Given the description of an element on the screen output the (x, y) to click on. 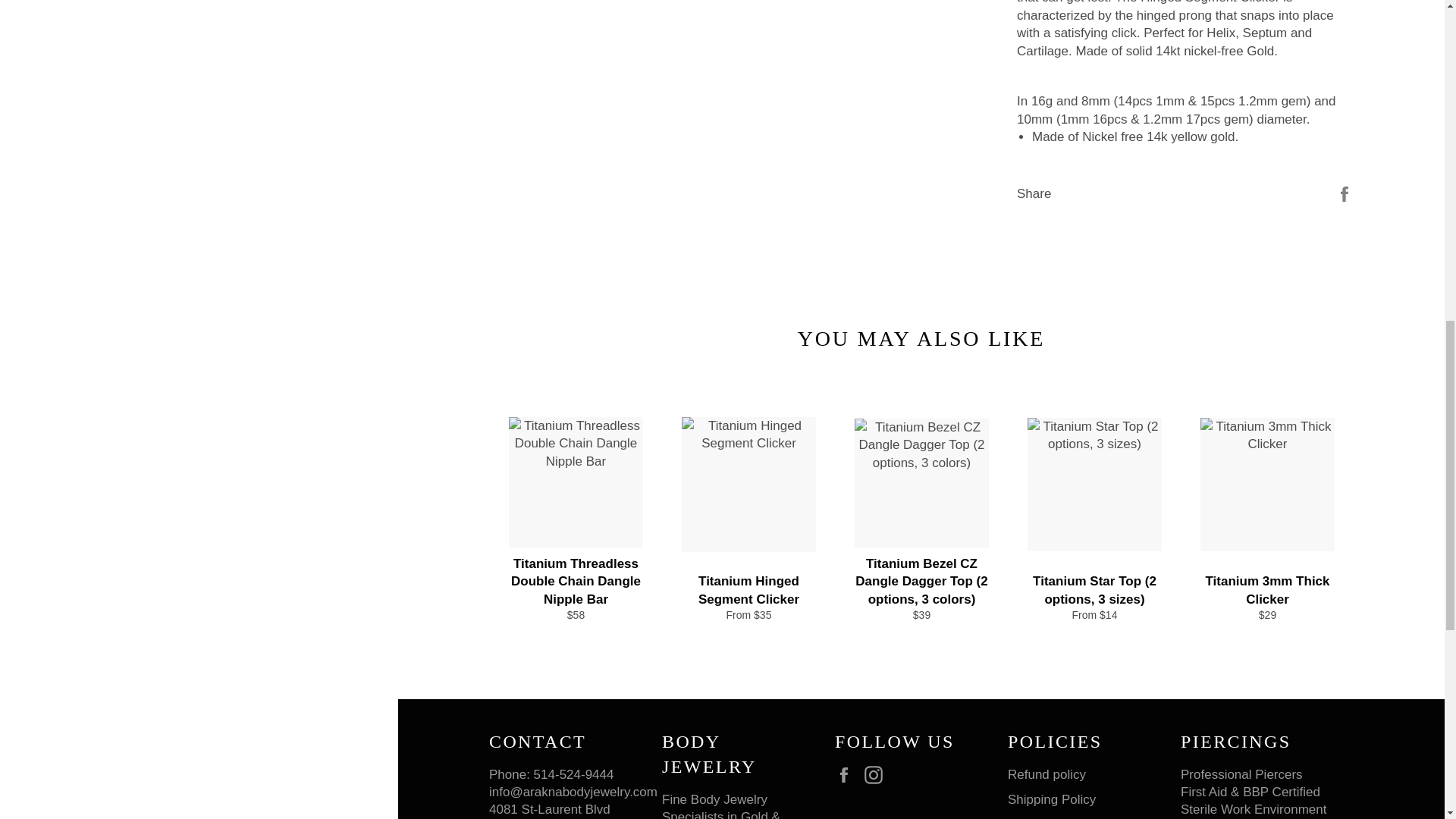
Share on Facebook (1344, 192)
ARAKNA Body Jewelry on Facebook (847, 774)
ARAKNA Body Jewelry on Instagram (876, 774)
